Given the description of an element on the screen output the (x, y) to click on. 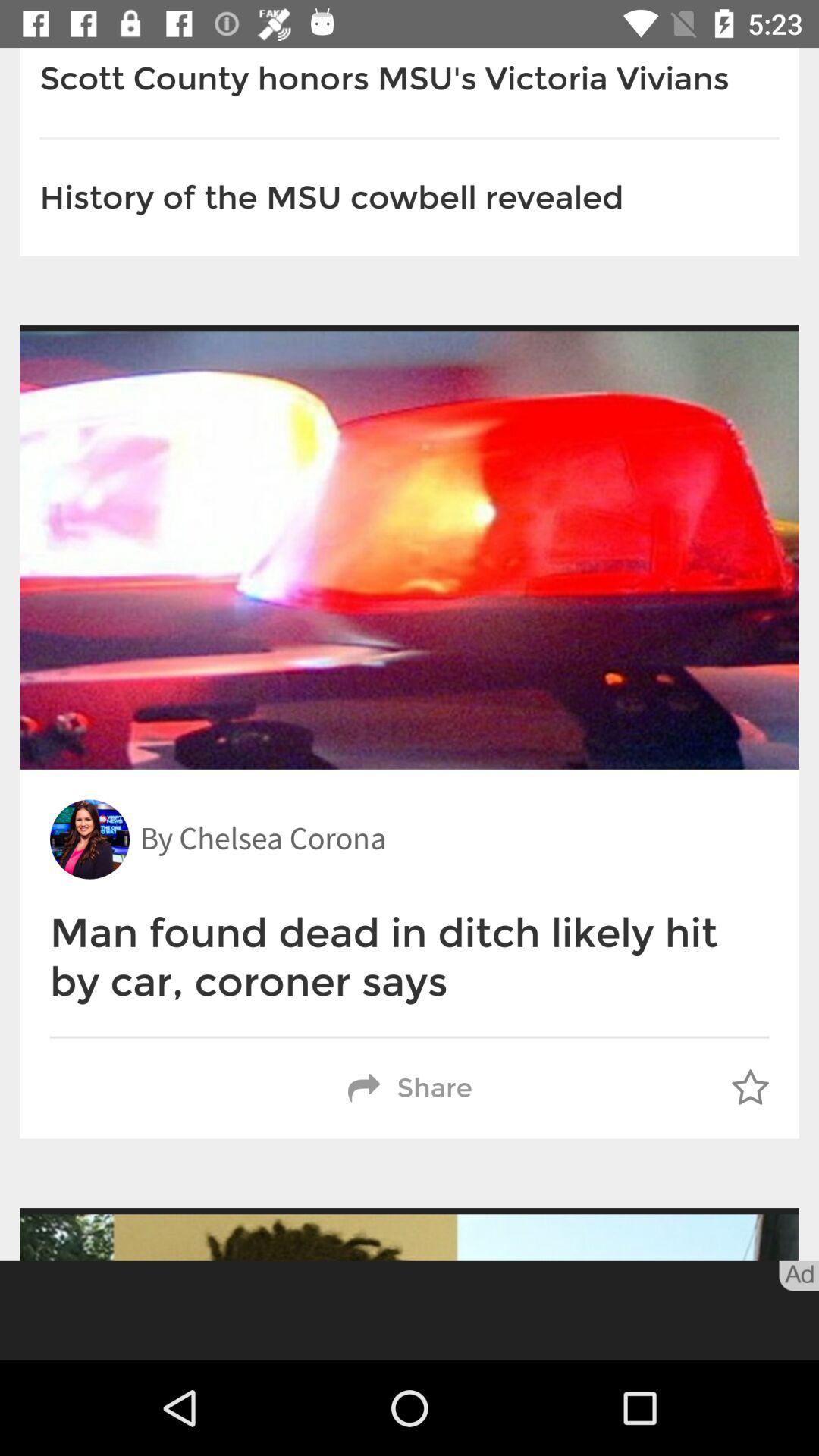
select item to the left of the by chelsea corona (89, 839)
